Given the description of an element on the screen output the (x, y) to click on. 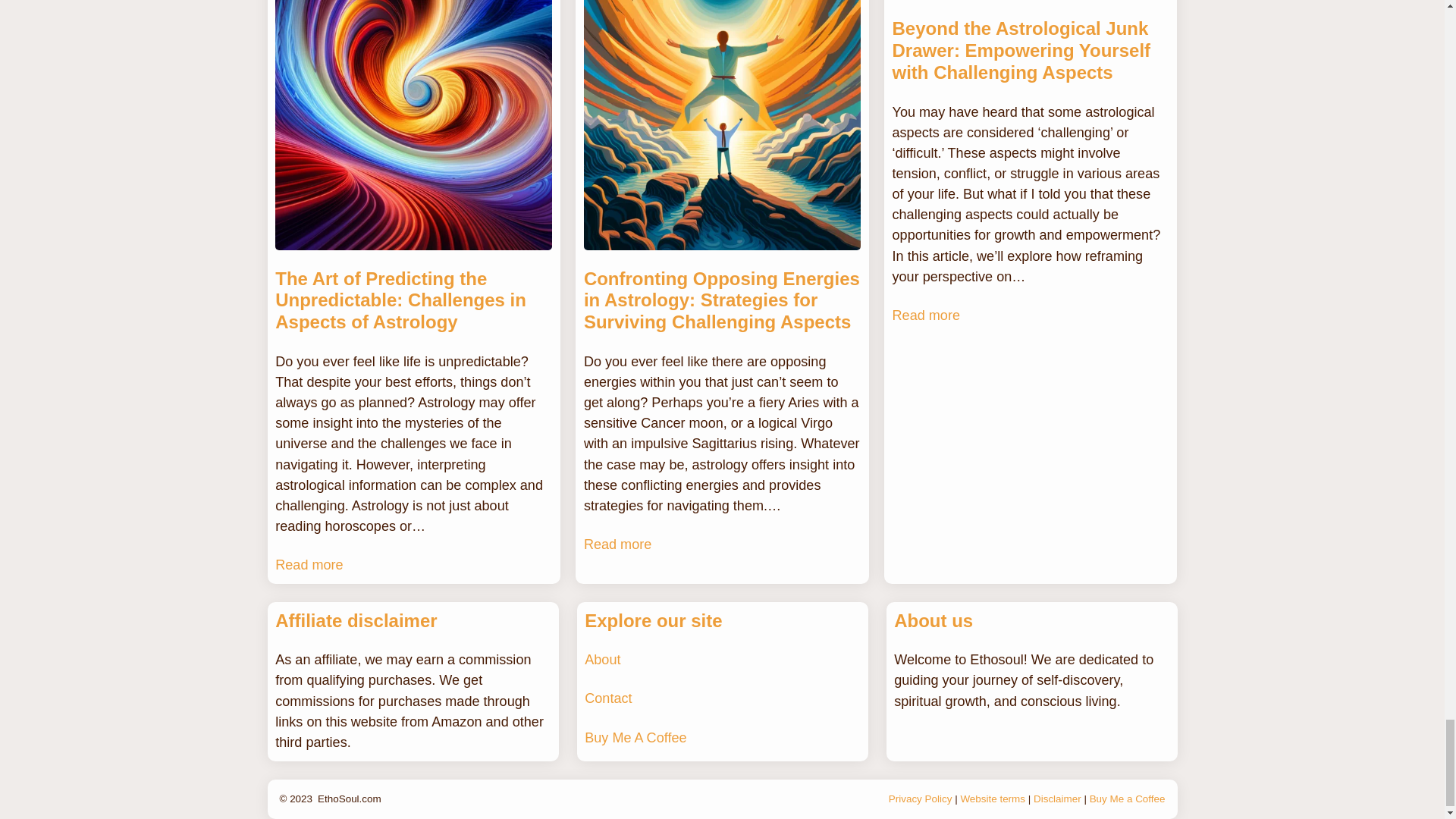
Read more (616, 544)
About us (932, 620)
Contact (608, 698)
Read more (925, 315)
Privacy Policy (920, 798)
EthoSoul.com (349, 798)
